Given the description of an element on the screen output the (x, y) to click on. 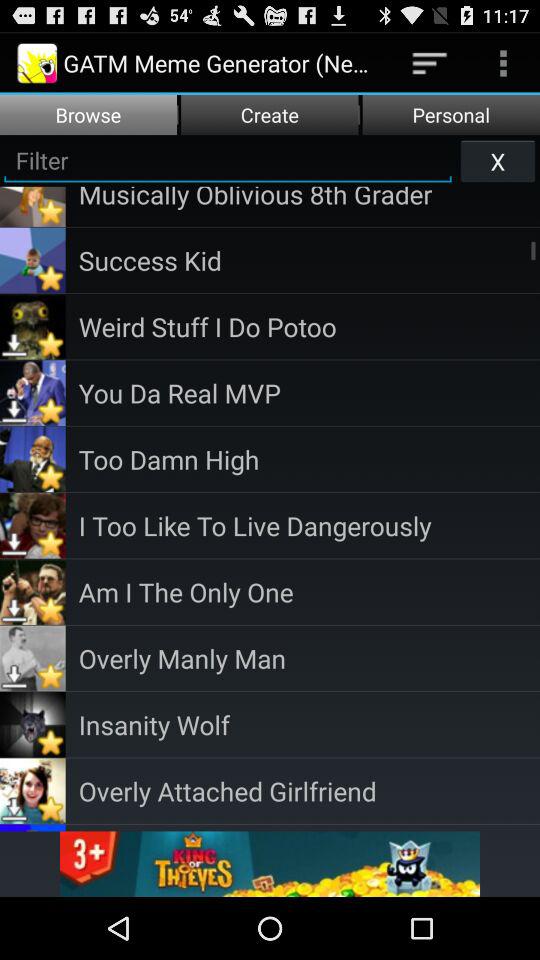
swipe until the am i the item (309, 591)
